Given the description of an element on the screen output the (x, y) to click on. 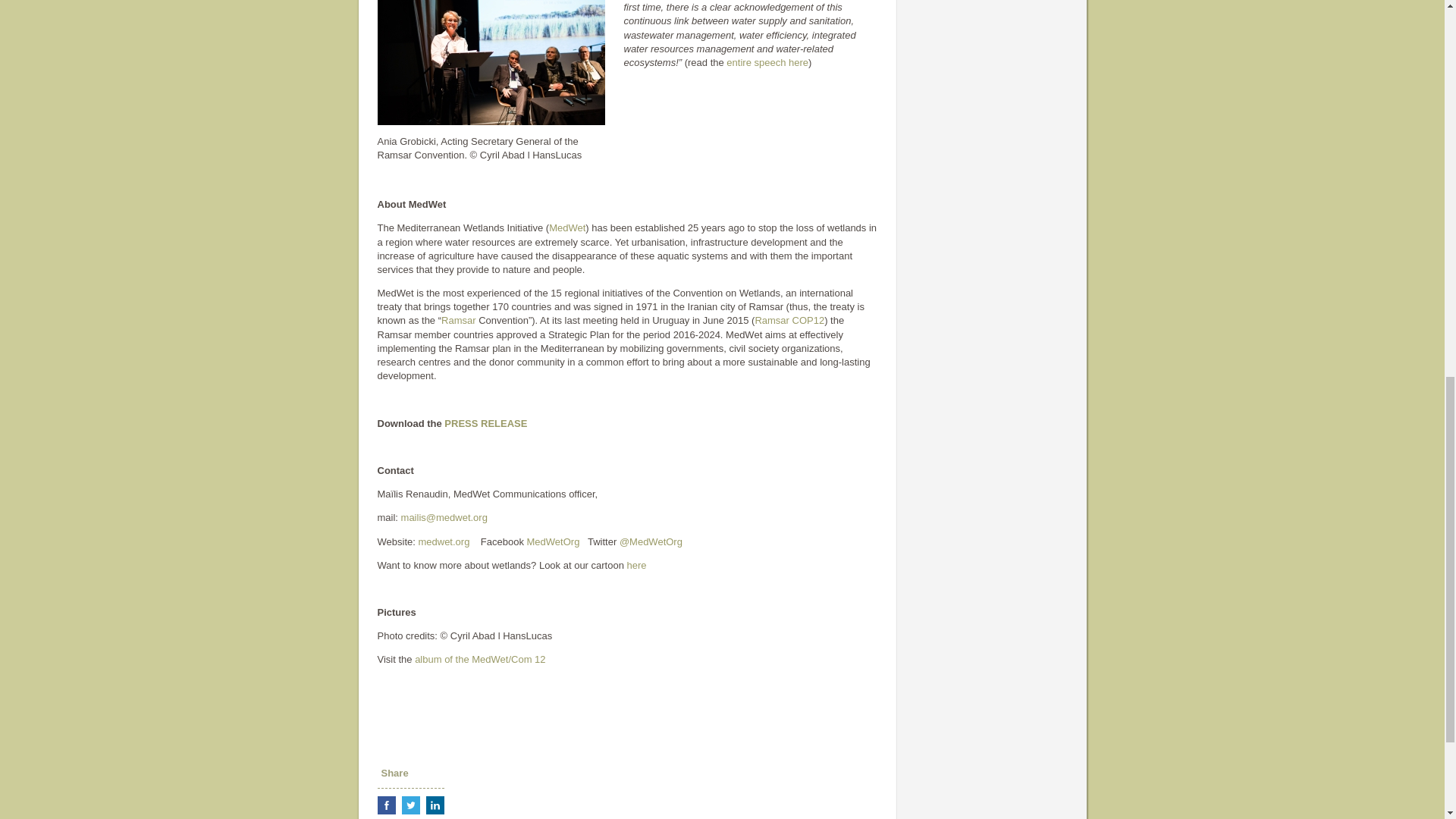
PRESS RELEASE (485, 423)
Share on LinkedIn (435, 805)
Share this post on LinkedIn (435, 805)
medwet.org (442, 541)
here (636, 564)
Share this post on Facebook (386, 805)
MedWetOrg (553, 541)
Share this post on Twitter (410, 805)
Ramsar (458, 319)
Share on Facebook (386, 805)
